Given the description of an element on the screen output the (x, y) to click on. 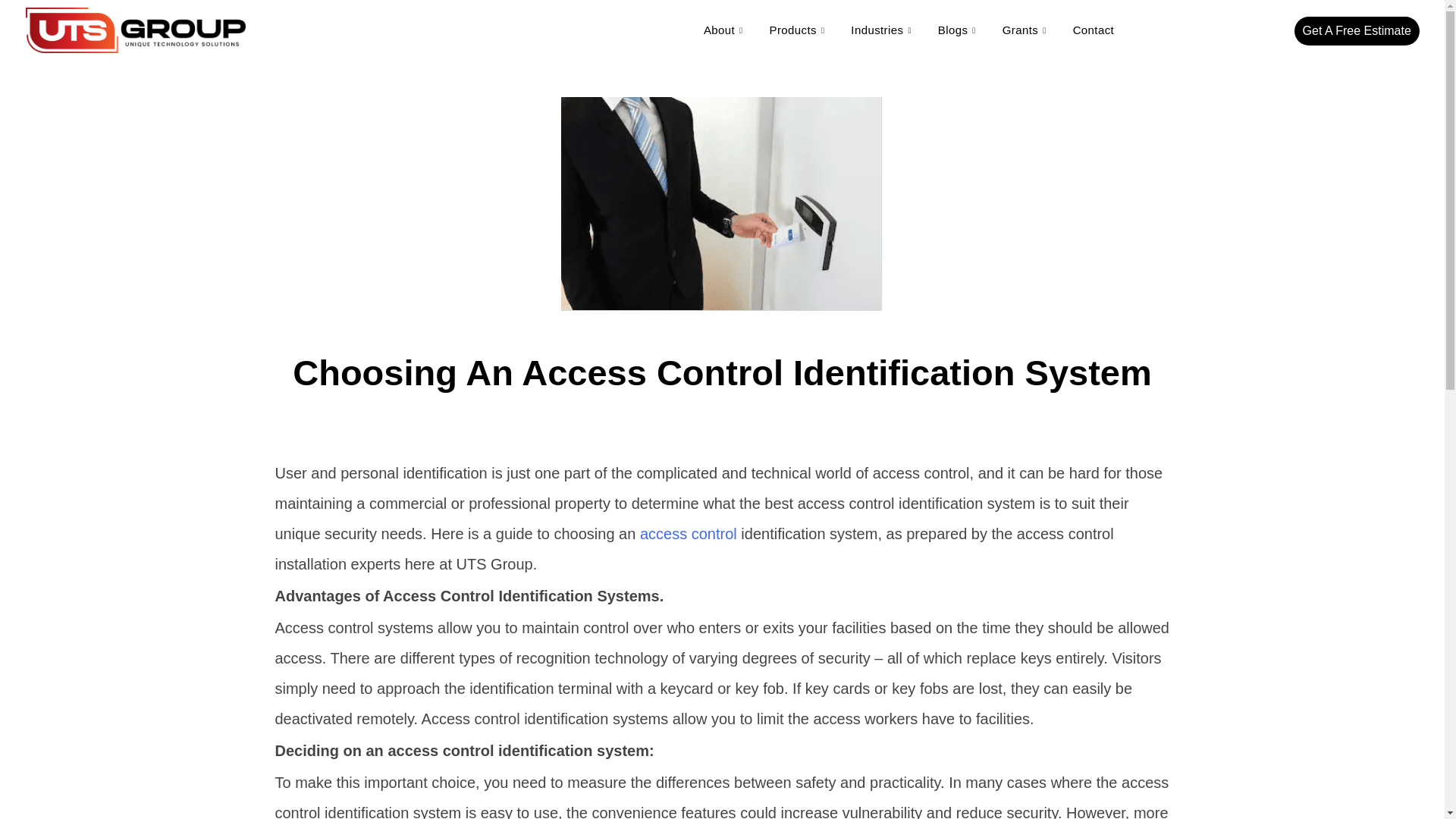
About (725, 30)
Products (799, 30)
